Given the description of an element on the screen output the (x, y) to click on. 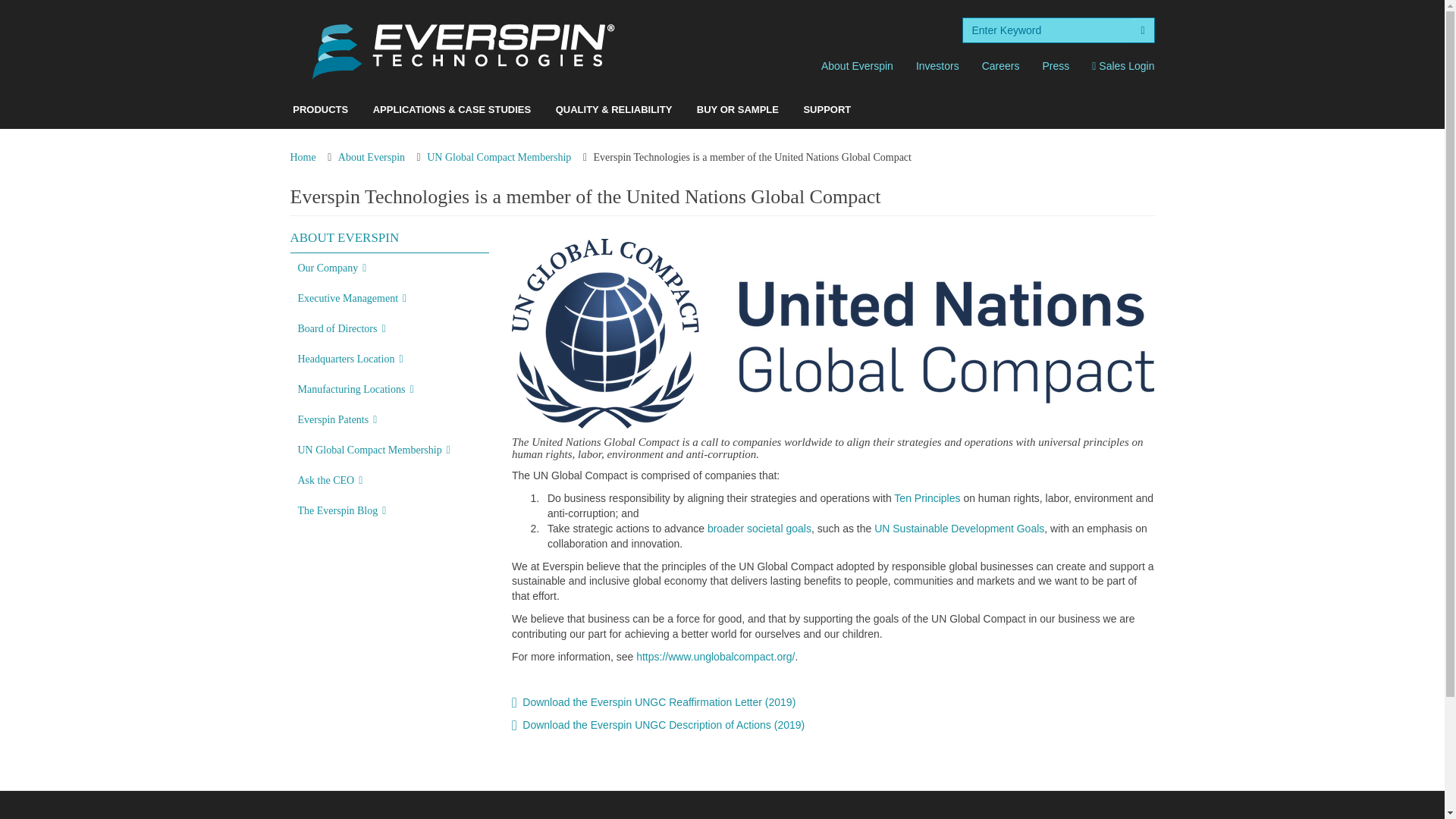
Everspin Intellectual Property (389, 419)
Investors (937, 65)
Ask the CEO a Question (389, 481)
Sales Login (1123, 65)
Applications (451, 109)
Our Company (389, 268)
PRODUCTS (319, 109)
sales login (1123, 65)
